Given the description of an element on the screen output the (x, y) to click on. 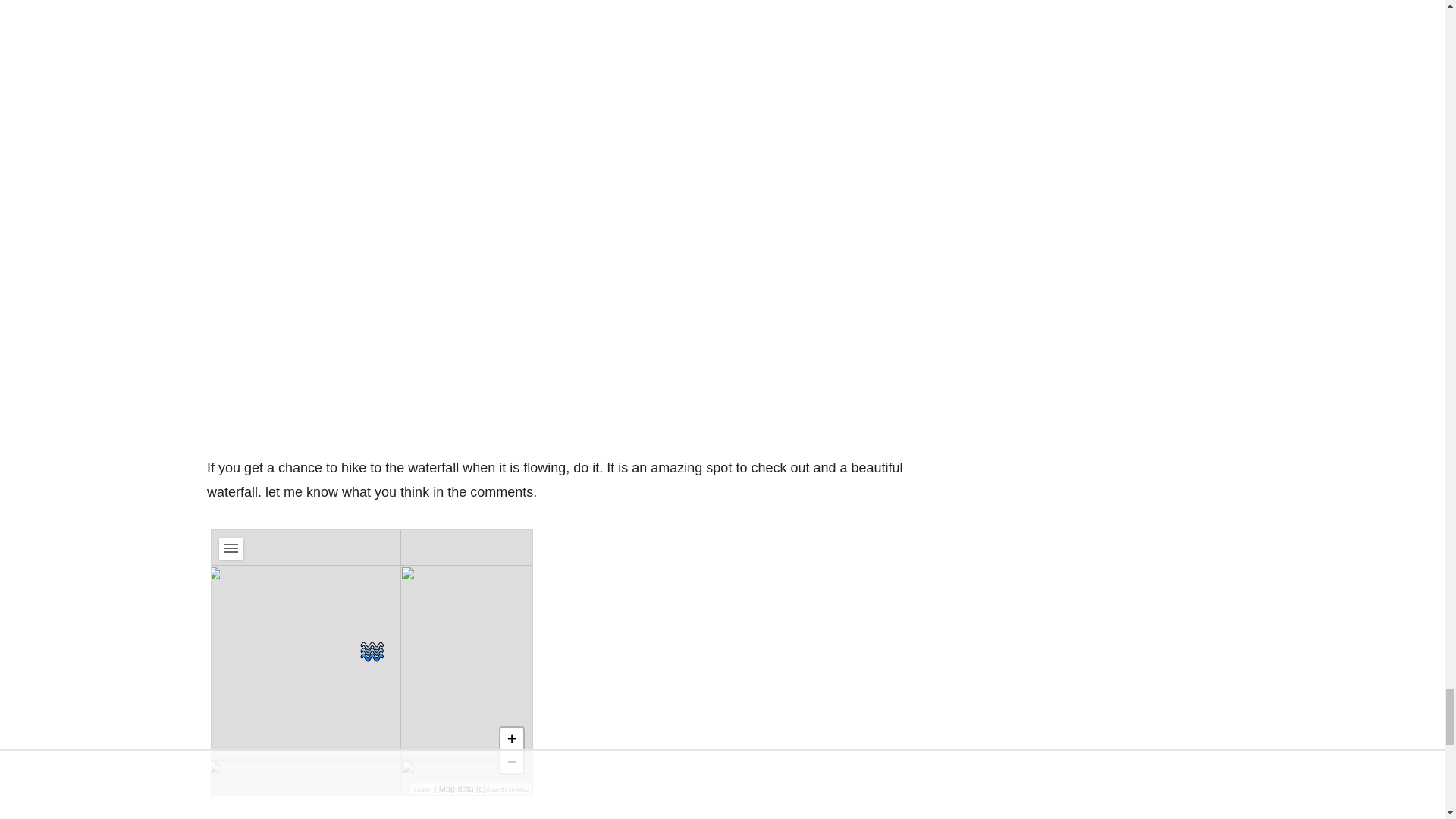
Phantom Falls (371, 650)
A JS library for interactive maps (422, 789)
Menu (231, 548)
